Given the description of an element on the screen output the (x, y) to click on. 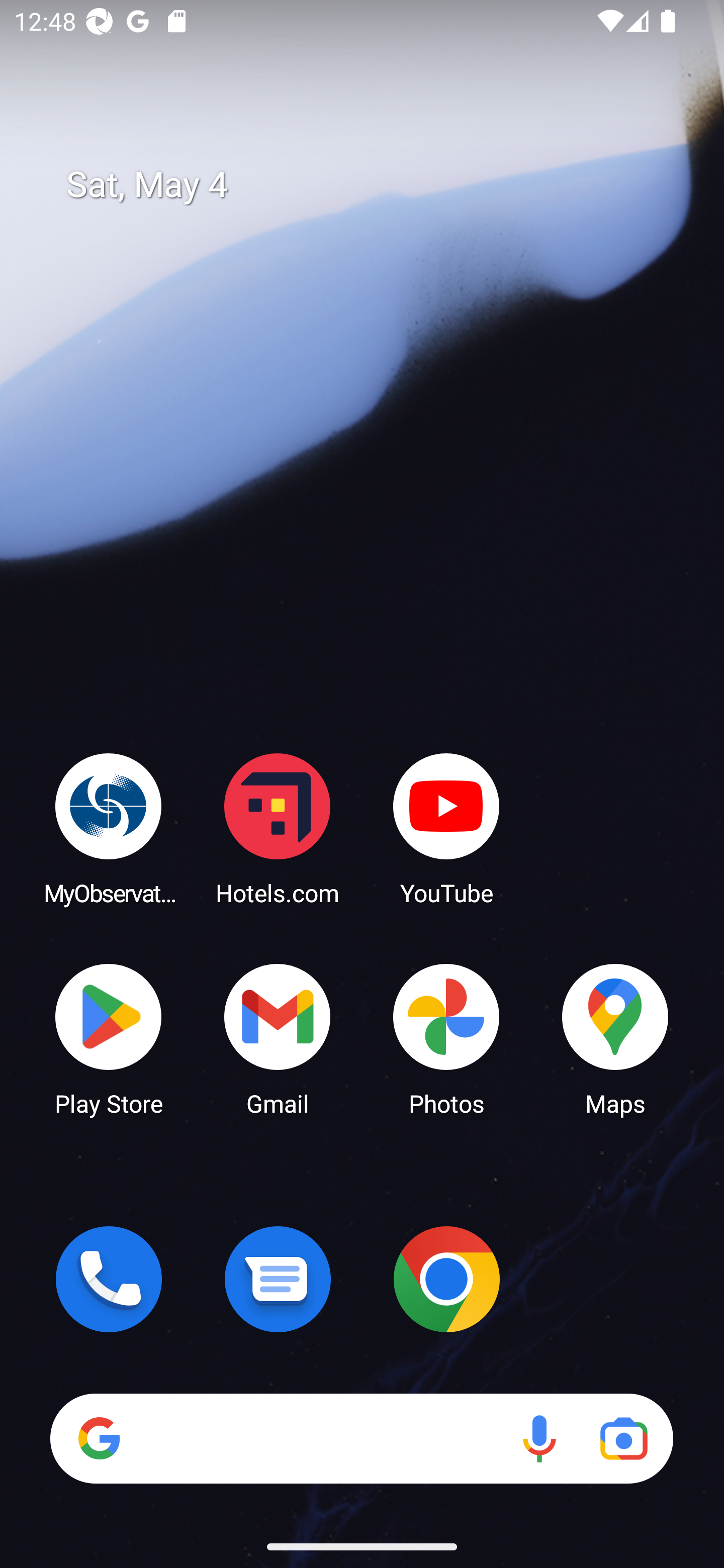
Sat, May 4 (375, 184)
MyObservatory (108, 828)
Hotels.com (277, 828)
YouTube (445, 828)
Play Store (108, 1038)
Gmail (277, 1038)
Photos (445, 1038)
Maps (615, 1038)
Phone (108, 1279)
Messages (277, 1279)
Chrome (446, 1279)
Search Voice search Google Lens (361, 1438)
Voice search (539, 1438)
Google Lens (623, 1438)
